Given the description of an element on the screen output the (x, y) to click on. 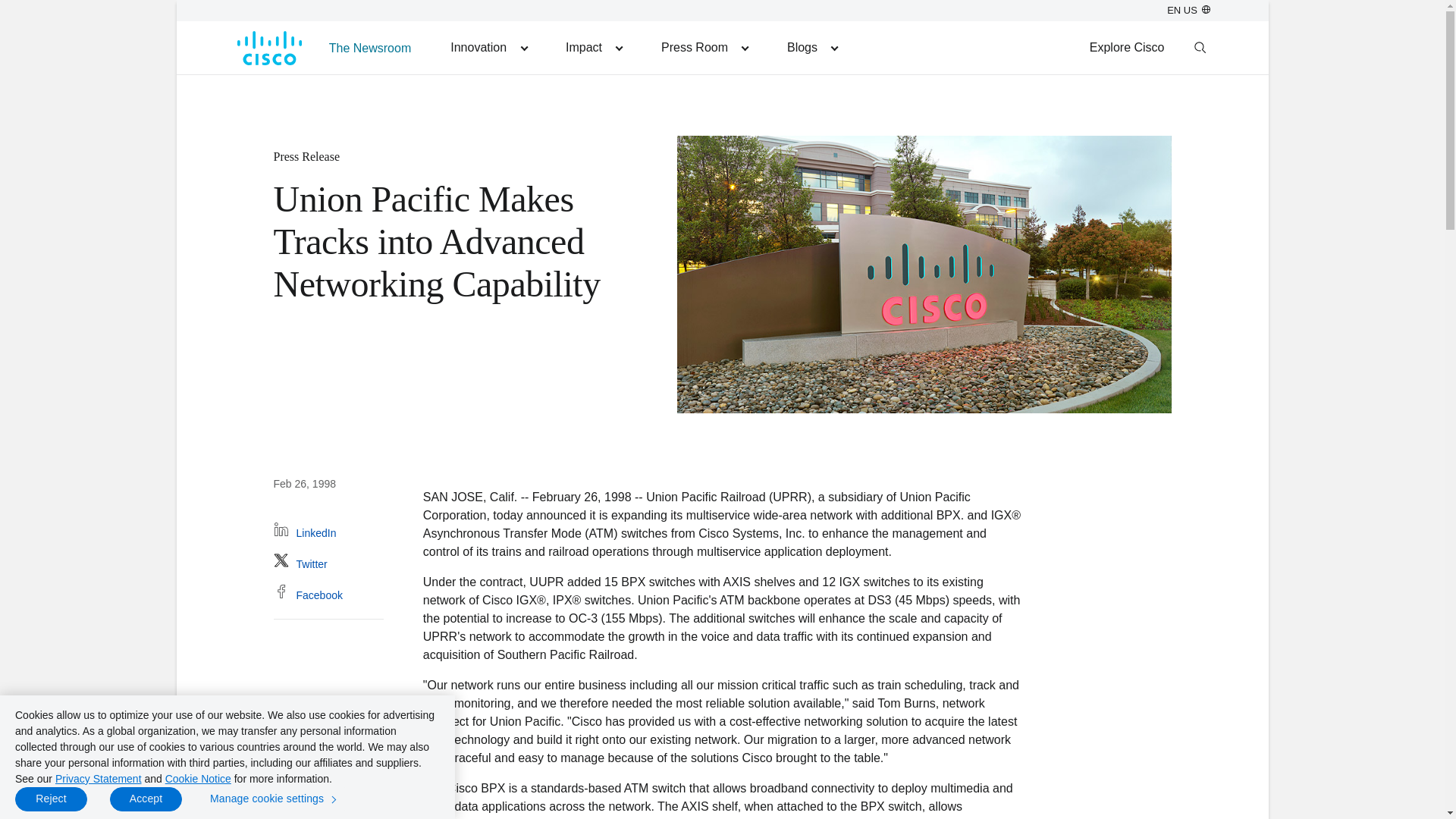
Press Room (704, 47)
Explore Cisco (1126, 47)
Blogs (811, 47)
Blogs (811, 47)
EN US (1188, 10)
Media Center (704, 47)
Innovation (488, 47)
Innovation (488, 47)
Impact (593, 47)
The Newsroom (370, 47)
Impact (593, 47)
